Given the description of an element on the screen output the (x, y) to click on. 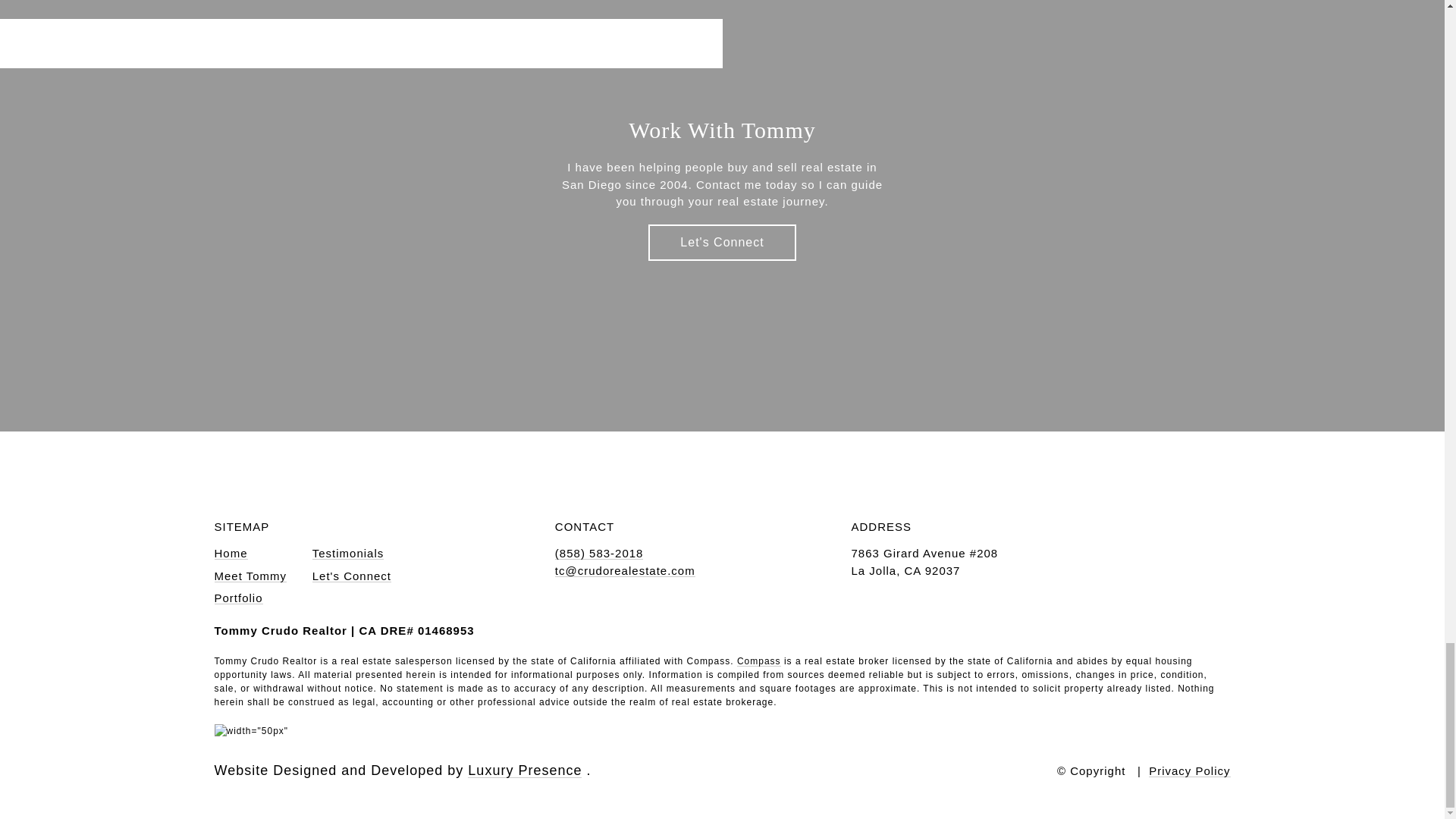
Compass Website (758, 661)
Email Address (624, 570)
Phone Number (598, 553)
Let's Connect (720, 242)
